Given the description of an element on the screen output the (x, y) to click on. 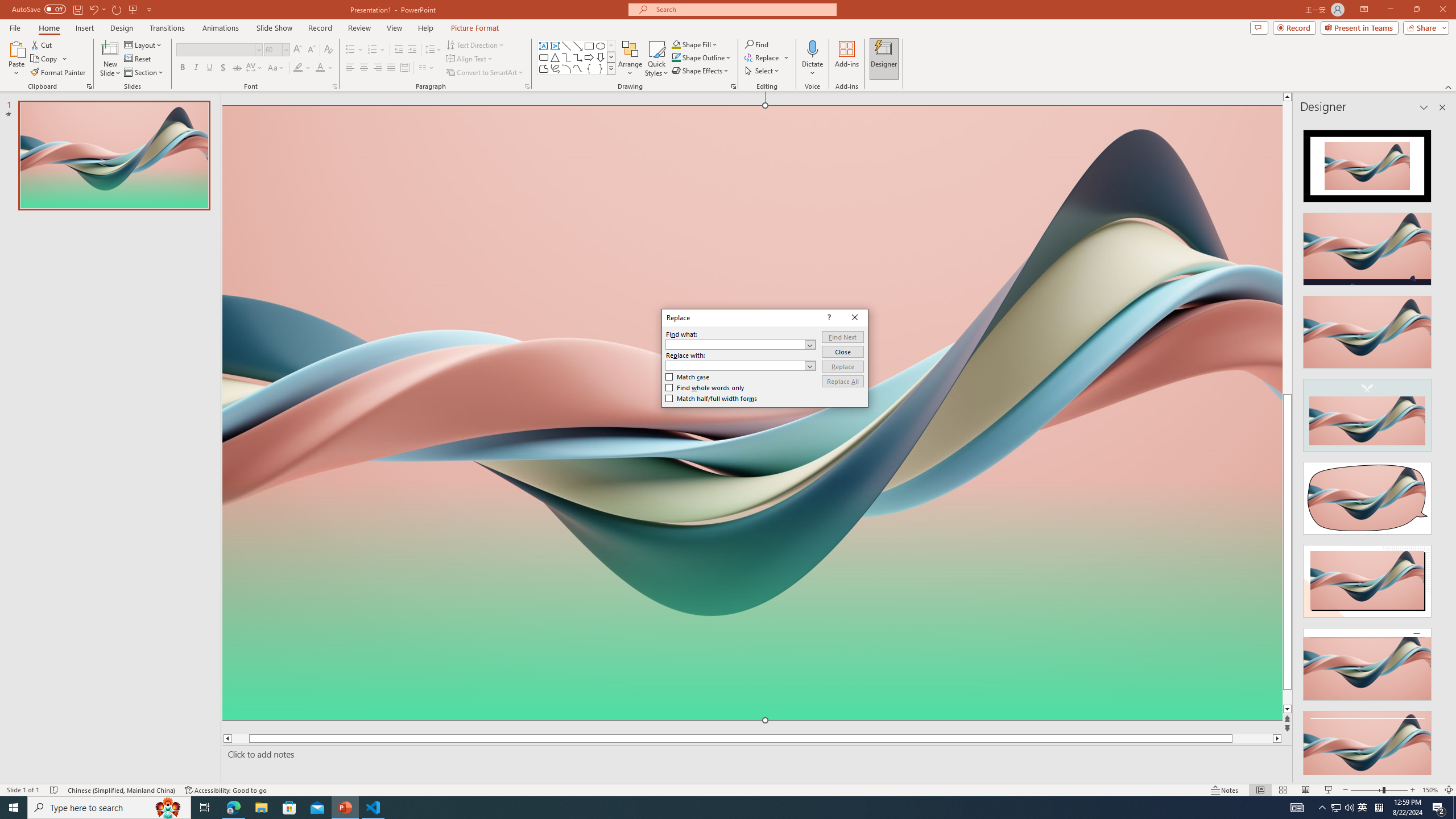
Picture Format (475, 28)
Replace (842, 366)
